Given the description of an element on the screen output the (x, y) to click on. 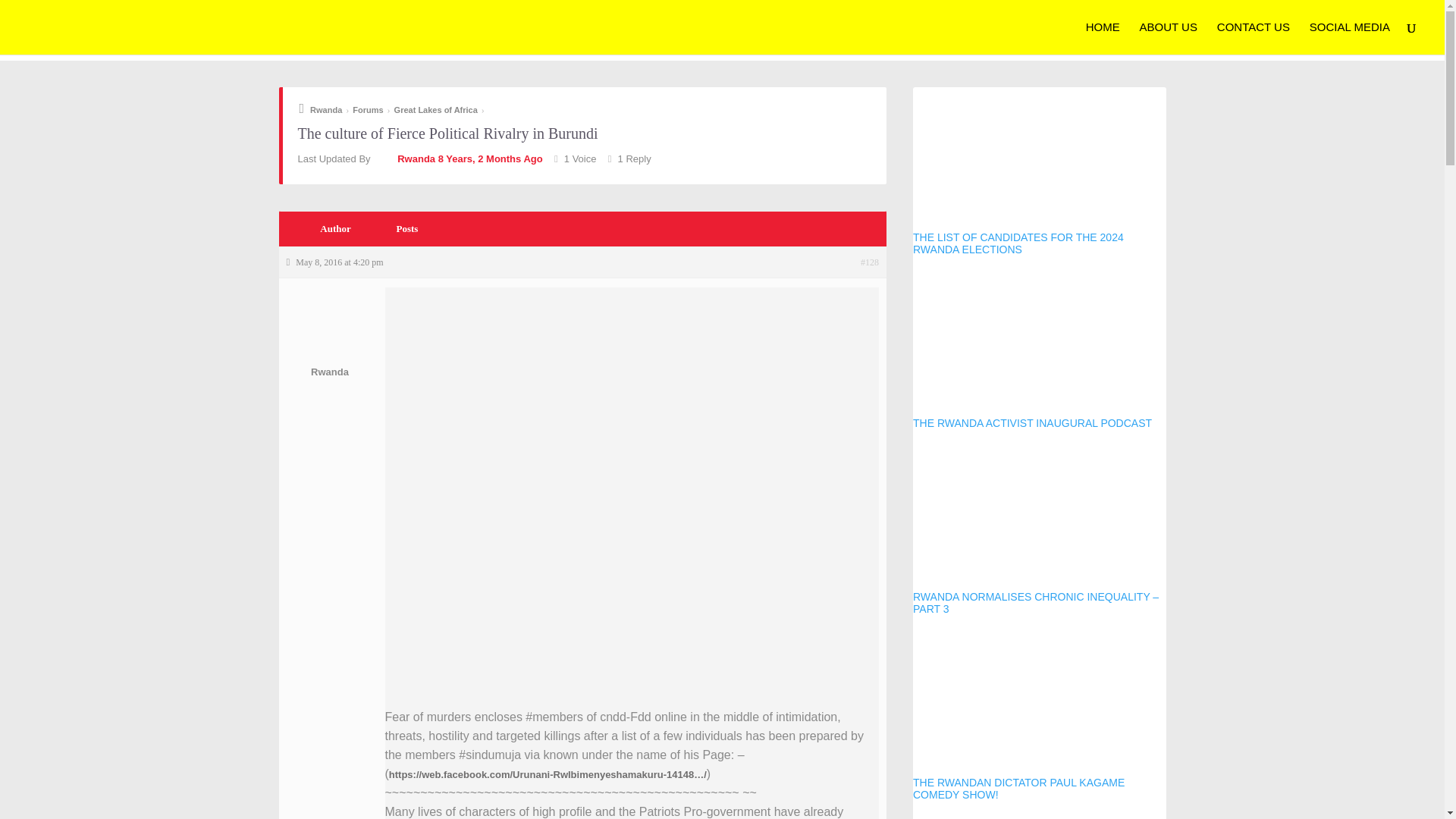
Great Lakes of Africa (436, 110)
ABOUT US (1168, 38)
8 Years, 2 Months Ago (490, 158)
Rwanda (330, 337)
THE RWANDAN DICTATOR PAUL KAGAME COMEDY SHOW! (1039, 716)
Rwanda (320, 110)
View Rwanda's profile (330, 337)
THE LIST OF CANDIDATES FOR THE 2024 RWANDA ELECTIONS (1039, 170)
THE RWANDA ACTIVIST INAUGURAL PODCAST (1039, 351)
Reply To: The culture of Fierce Political Rivalry in Burundi (490, 158)
Rwanda (403, 158)
SOCIAL MEDIA (1349, 38)
View Rwanda's profile (403, 158)
Forums (367, 110)
CONTACT US (1253, 38)
